Given the description of an element on the screen output the (x, y) to click on. 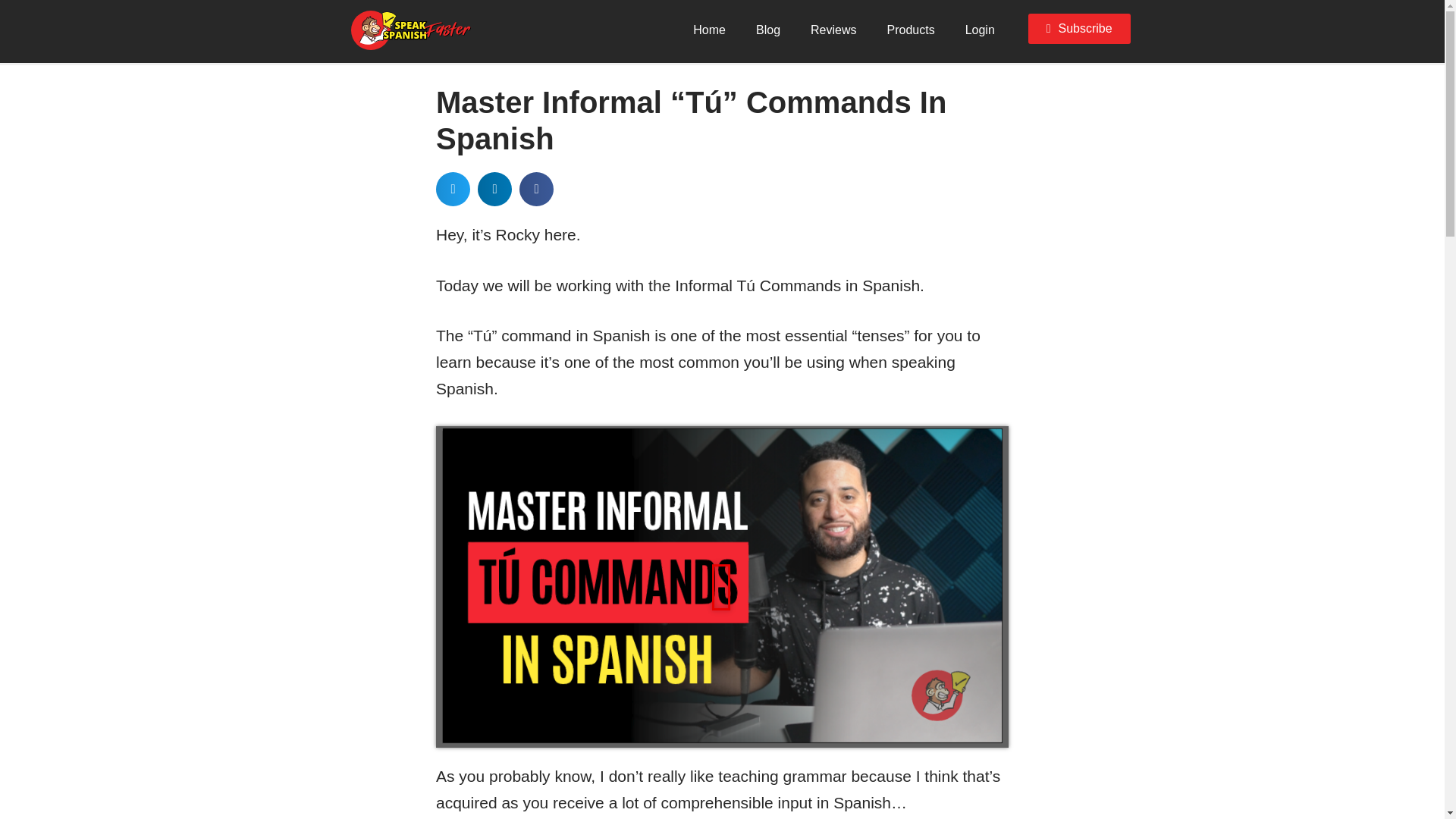
Home (709, 33)
Products (911, 33)
Subscribe (1079, 28)
Reviews (832, 33)
